Given the description of an element on the screen output the (x, y) to click on. 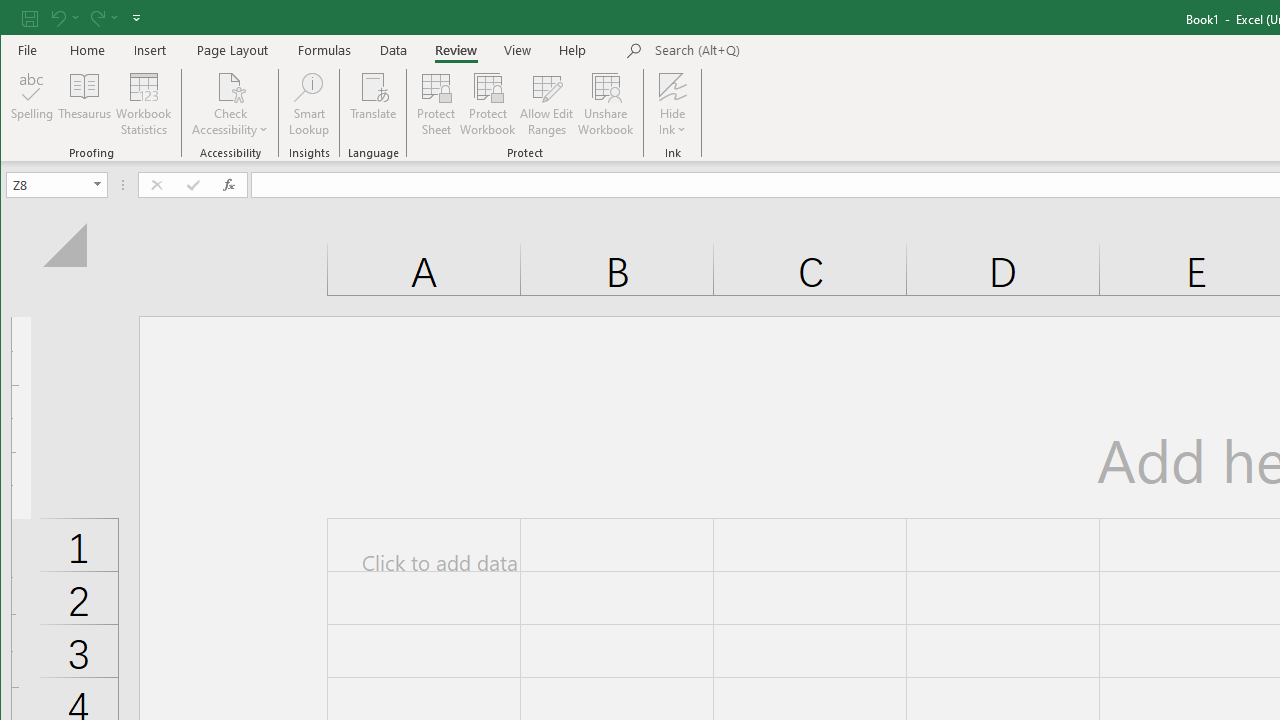
Protect Sheet... (436, 104)
Hide Ink (672, 86)
Microsoft search (794, 51)
Check Accessibility (230, 86)
Quick Access Toolbar (83, 17)
Hide Ink (672, 104)
Workbook Statistics (143, 104)
Allow Edit Ranges (547, 104)
Save (29, 17)
Thesaurus... (84, 104)
